Given the description of an element on the screen output the (x, y) to click on. 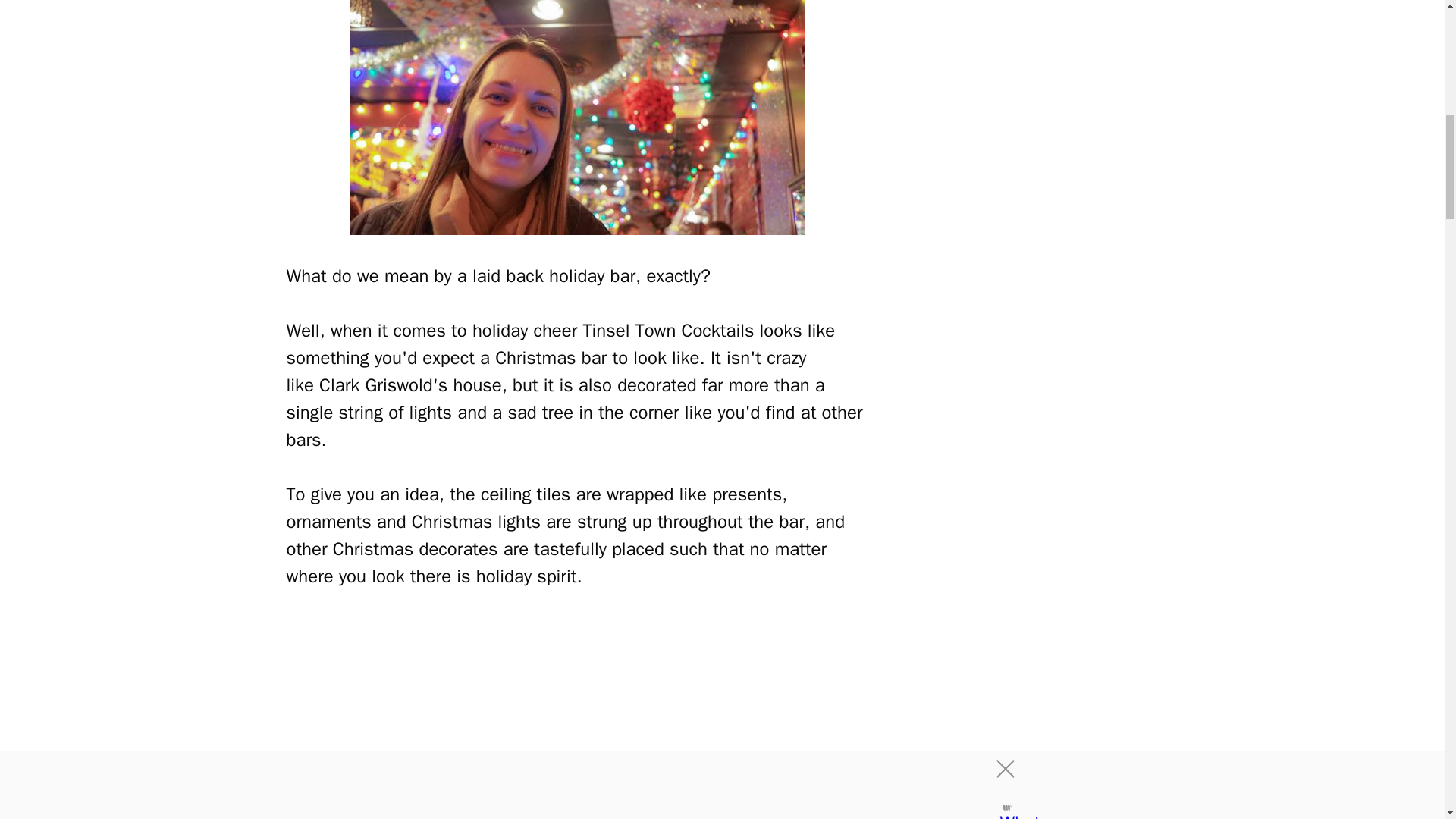
Tinsel Town Cocktails in Pittsburgh (577, 117)
Tinsel Town Cocktails (577, 718)
